Given the description of an element on the screen output the (x, y) to click on. 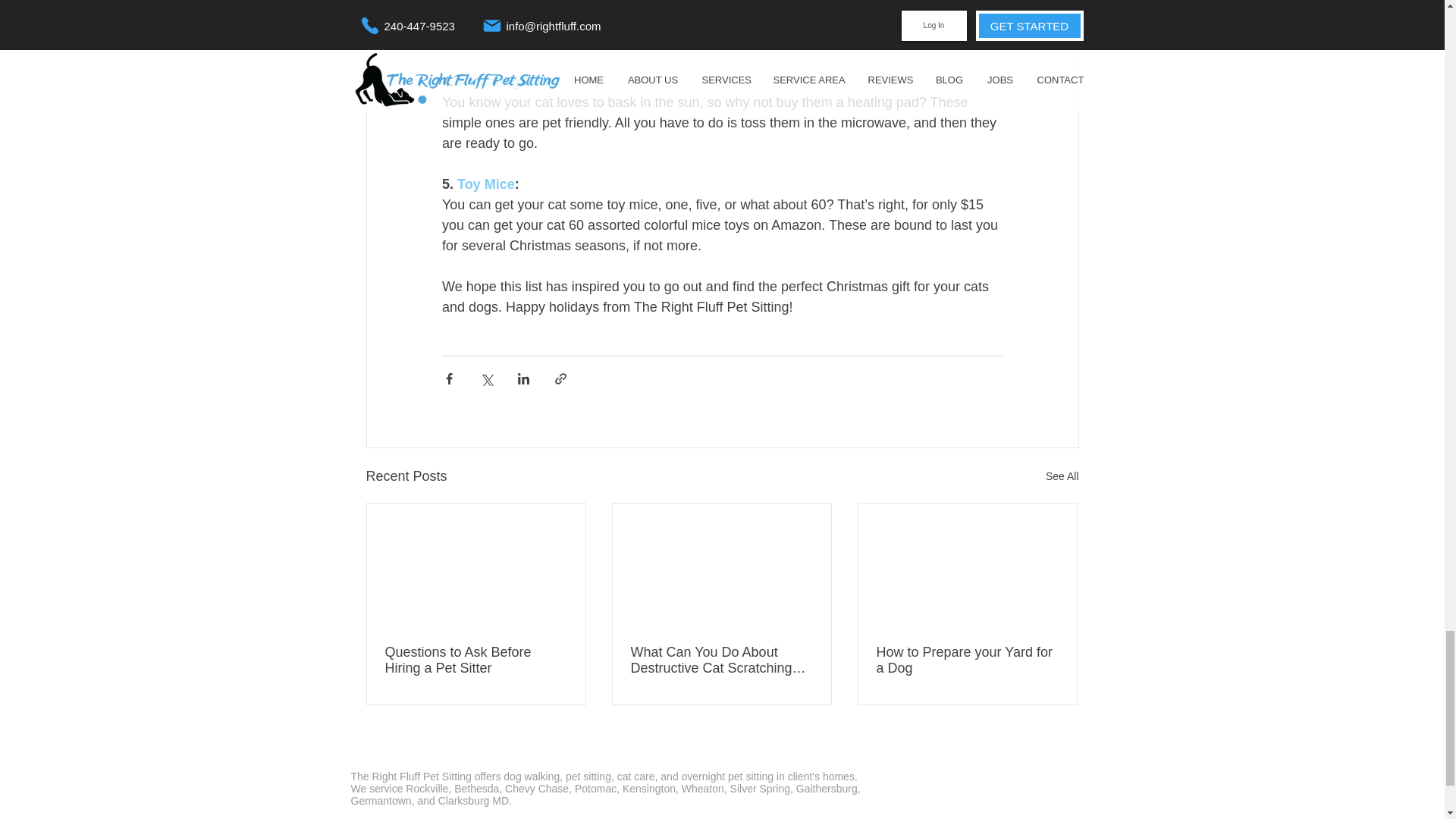
What Can You Do About Destructive Cat Scratching Behavior? (721, 660)
A Heating Pad (502, 81)
See All (1061, 476)
Toy Mice (486, 183)
Questions to Ask Before Hiring a Pet Sitter (476, 660)
How to Prepare your Yard for a Dog (967, 660)
